Given the description of an element on the screen output the (x, y) to click on. 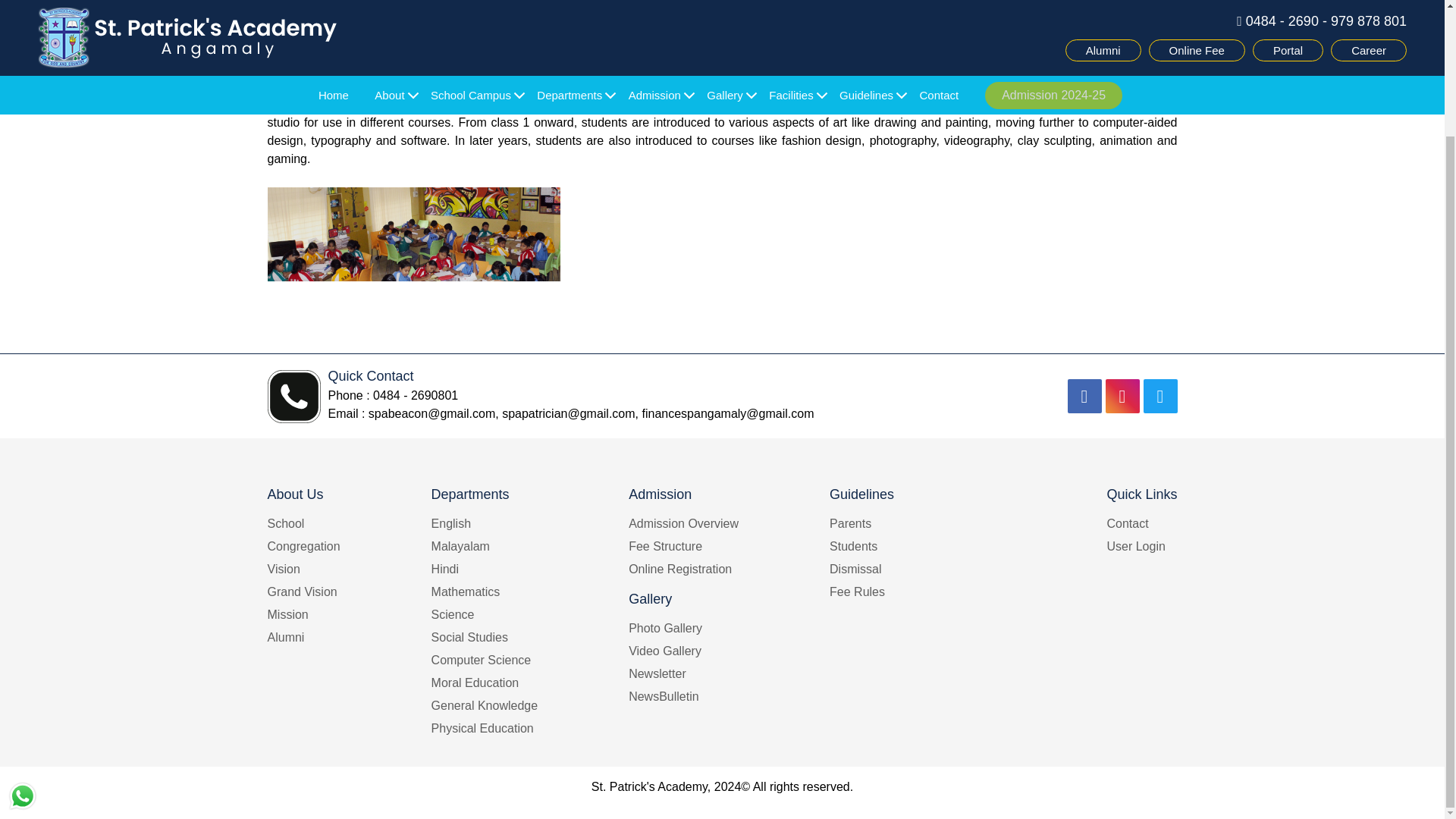
Facebook (1084, 396)
Linked In (1159, 396)
WhatsApp (22, 643)
Instagram (1122, 396)
